Given the description of an element on the screen output the (x, y) to click on. 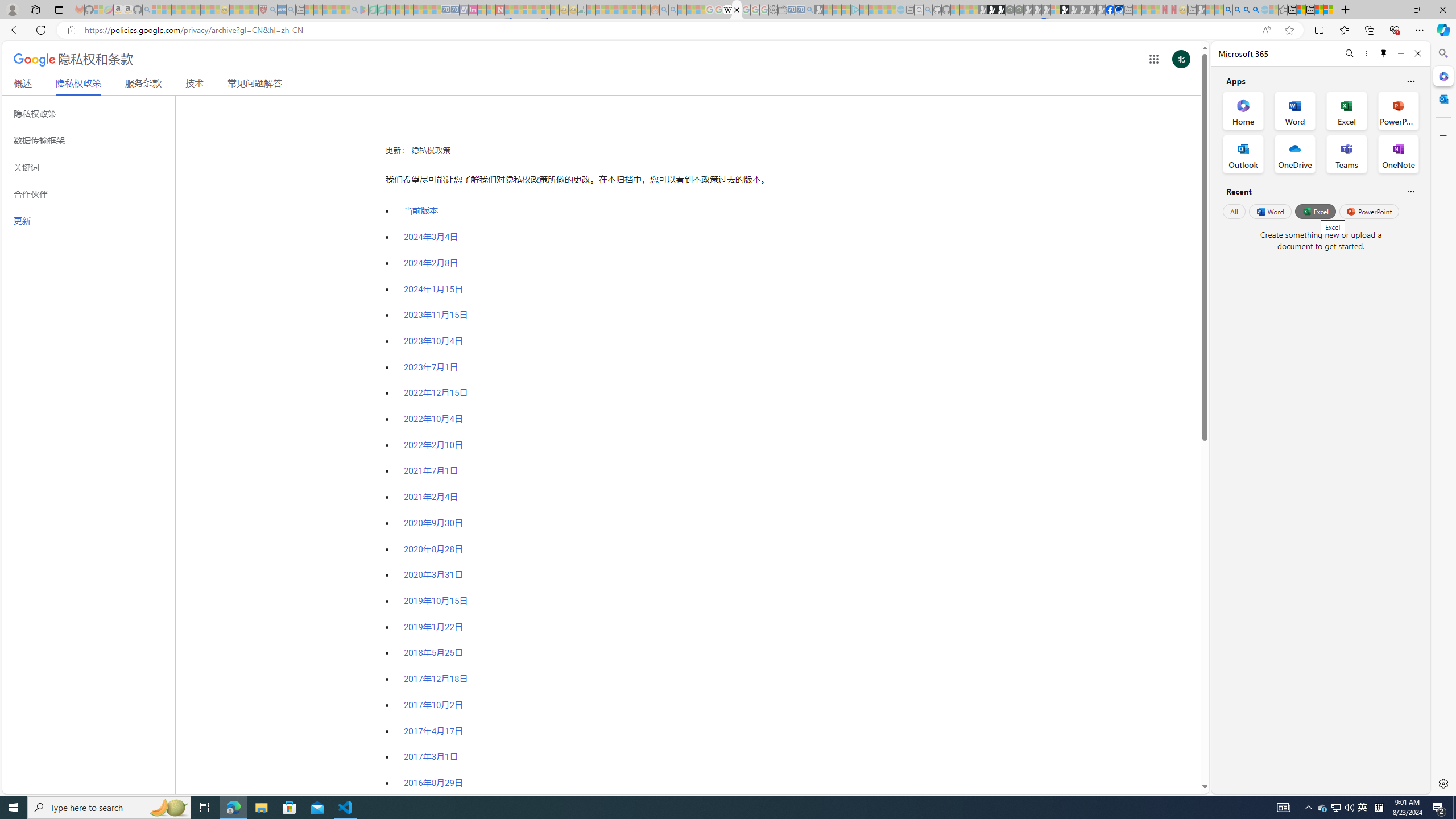
New Report Confirms 2023 Was Record Hot | Watch - Sleeping (195, 9)
Microsoft-Report a Concern to Bing - Sleeping (98, 9)
Favorites - Sleeping (1283, 9)
Class: gb_E (1153, 59)
The Weather Channel - MSN - Sleeping (175, 9)
DITOGAMES AG Imprint - Sleeping (581, 9)
